Given the description of an element on the screen output the (x, y) to click on. 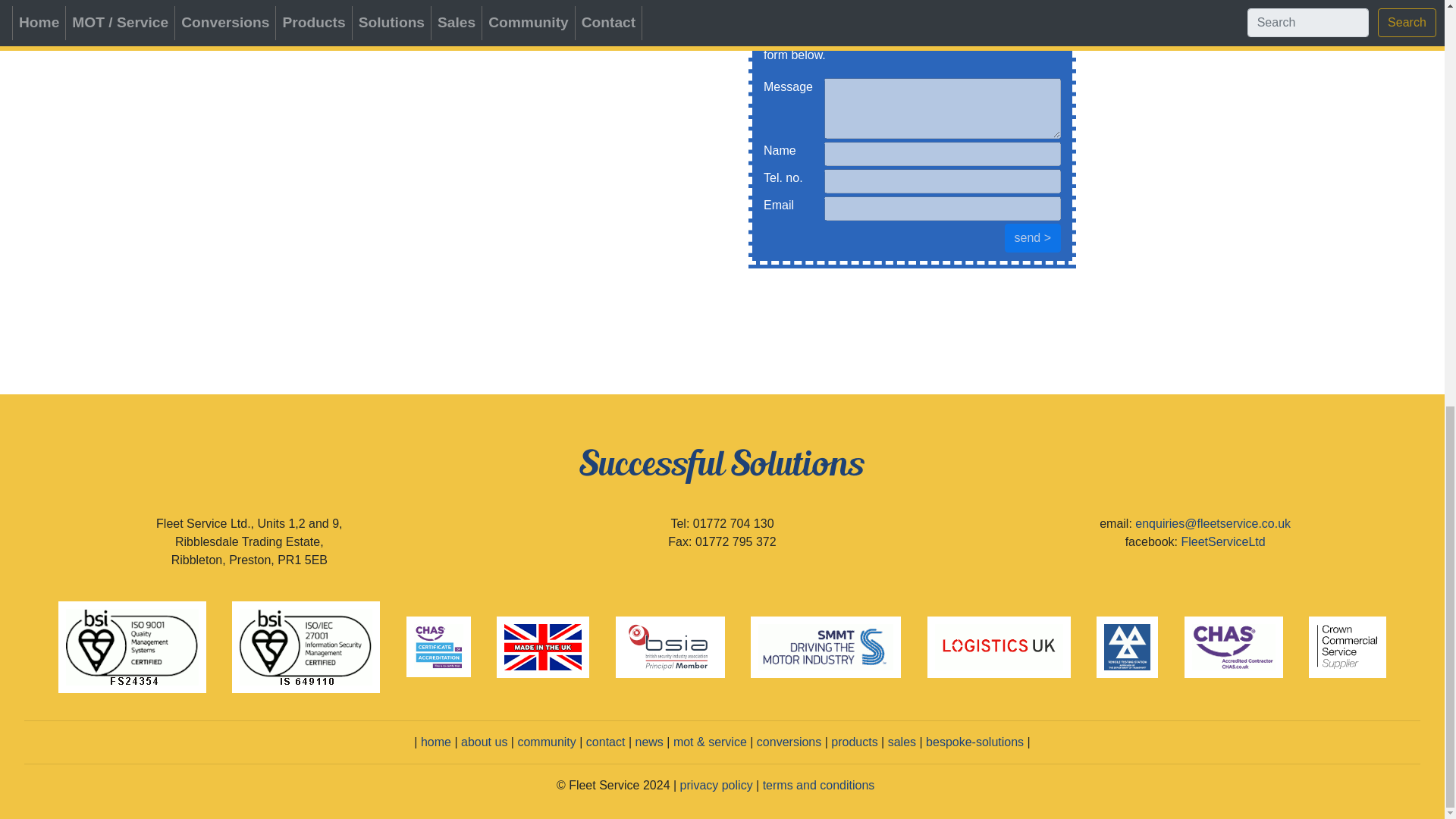
FleetServiceLtd (1222, 541)
news (648, 741)
terms and conditions (818, 784)
about us (483, 741)
privacy policy (715, 784)
contact (606, 741)
conversions (789, 741)
home (435, 741)
community (545, 741)
products (854, 741)
